Given the description of an element on the screen output the (x, y) to click on. 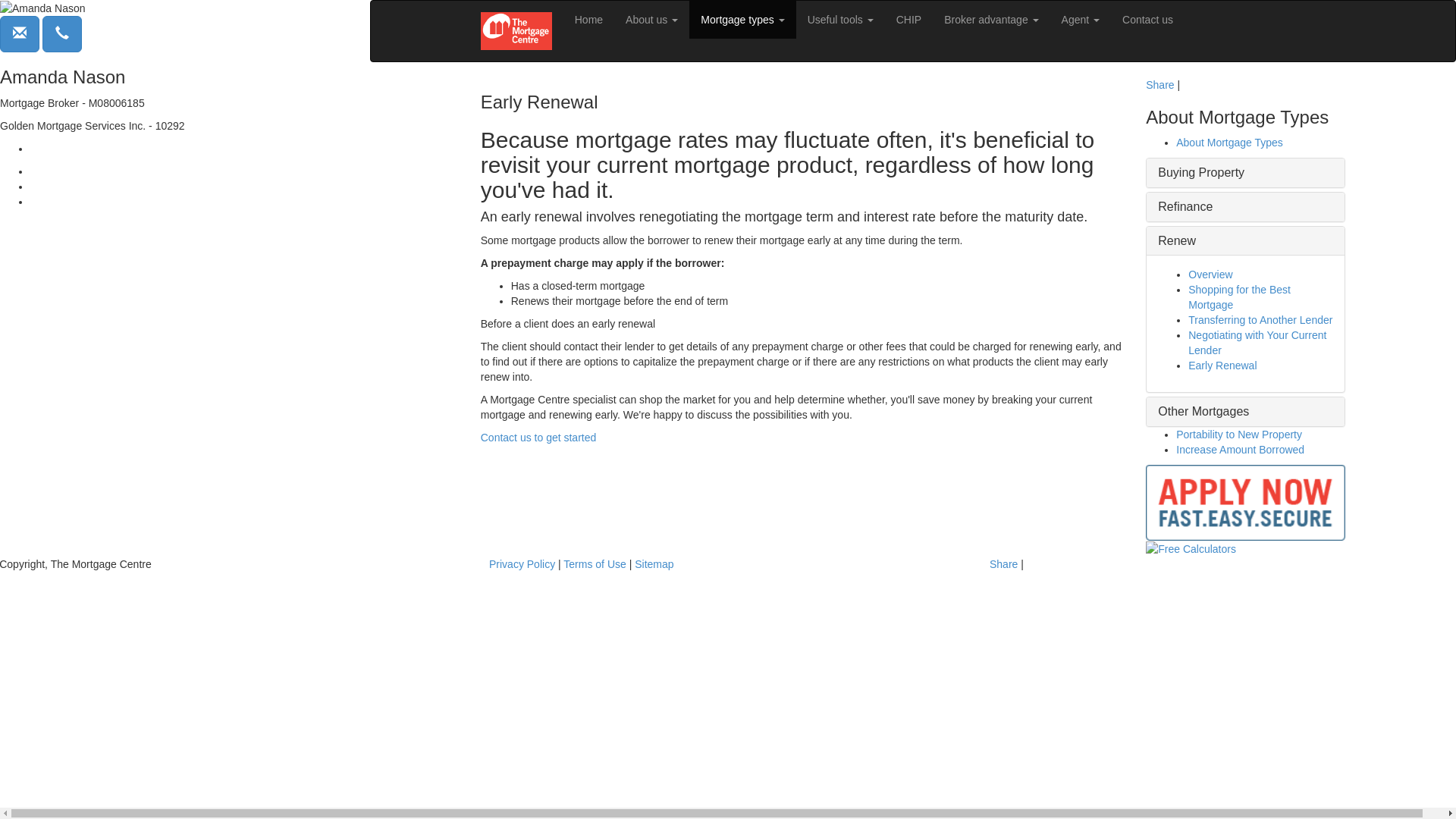
About Mortgage Types Element type: text (1229, 142)
Privacy Policy Element type: text (522, 564)
Tel: 905-388-8662 Element type: text (73, 171)
Mortgage types Element type: text (742, 19)
Each Office Independently Owned & Operated Element type: text (173, 224)
Portability to New Property Element type: text (1239, 434)
Other Mortgages Element type: text (1202, 410)
Fax: 905-388-6431 Element type: text (75, 201)
About us Element type: text (651, 19)
Sitemap Element type: text (653, 564)
Contact us to get started Element type: text (538, 437)
Overview Element type: text (1210, 274)
Home Element type: text (588, 19)
Agent Element type: text (1080, 19)
Refinance Element type: text (1184, 206)
amanda@the-nasons.ca Element type: text (88, 148)
Useful tools Element type: text (840, 19)
Renew Element type: text (1176, 240)
Broker advantage Element type: text (990, 19)
Increase Amount Borrowed Element type: text (1240, 449)
Share Element type: text (1003, 564)
Amanda Nason Element type: hover (42, 7)
Contact us Element type: text (1147, 19)
Shopping for the Best Mortgage Element type: text (1239, 296)
CHIP Element type: text (908, 19)
Share Element type: text (1159, 84)
Early Renewal Element type: text (1222, 365)
Buying Property Element type: text (1200, 172)
Terms of Use Element type: text (594, 564)
Cell: 905-388-8862 Element type: text (76, 186)
Negotiating with Your Current Lender Element type: text (1257, 342)
Transferring to Another Lender Element type: text (1260, 319)
